Given the description of an element on the screen output the (x, y) to click on. 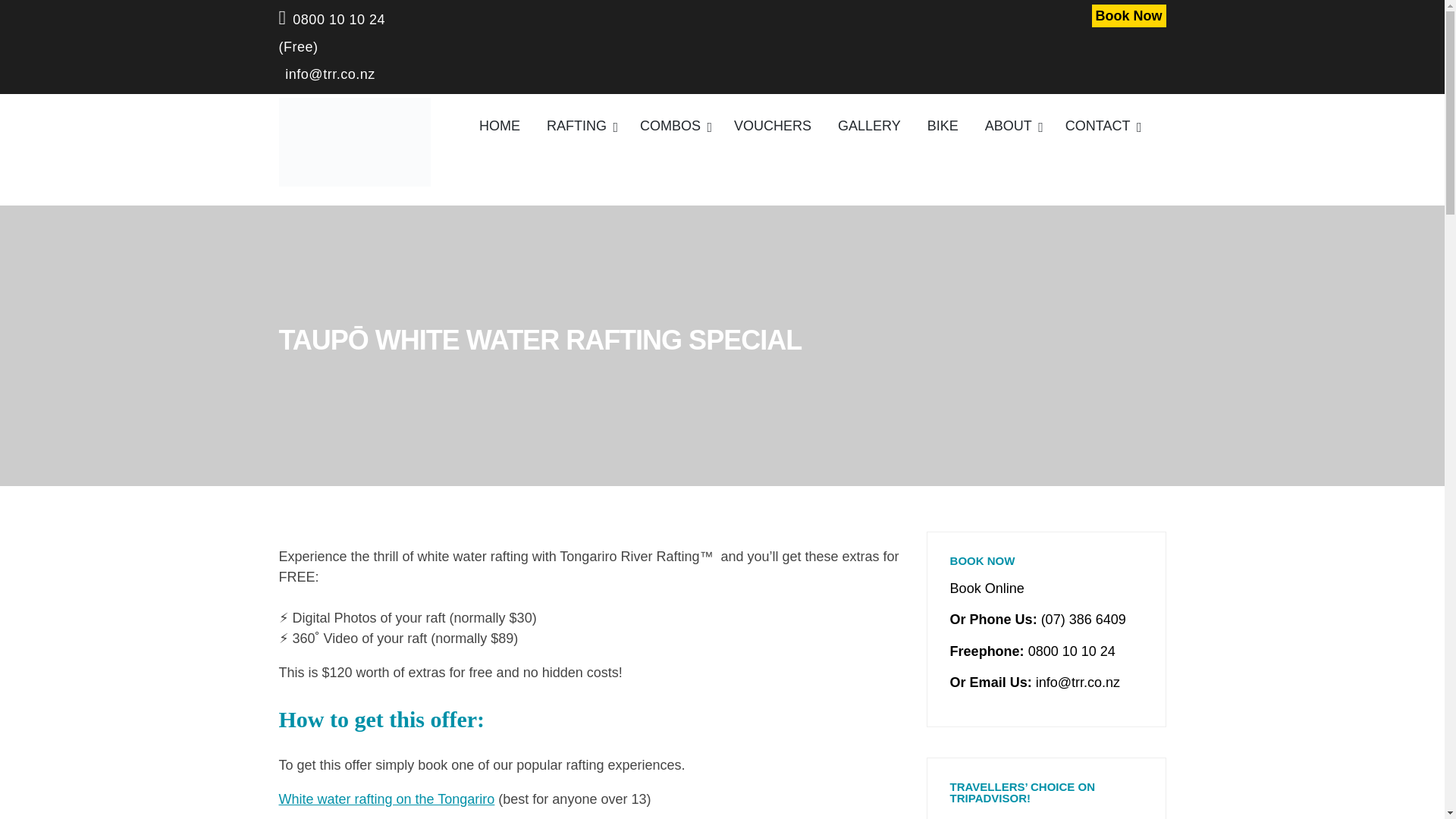
COMBOS (672, 125)
CONTACT (1101, 125)
Book Now (1129, 15)
BIKE (943, 125)
HOME (499, 125)
GALLERY (869, 125)
TONGARIRO RIVER RAFTING (379, 206)
ABOUT (1011, 125)
RAFTING (579, 125)
VOUCHERS (772, 125)
